Given the description of an element on the screen output the (x, y) to click on. 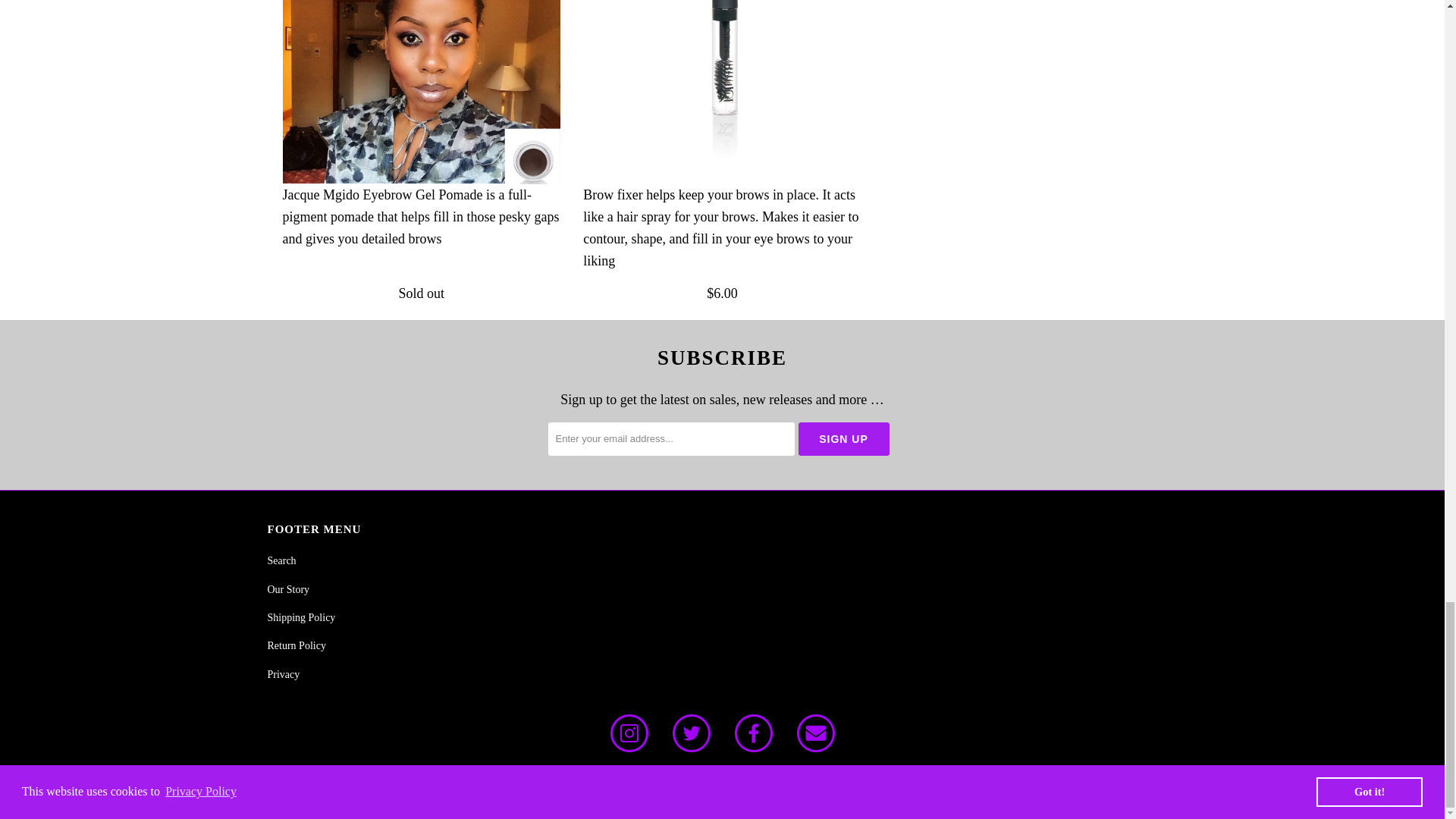
Sign Up (842, 438)
